Given the description of an element on the screen output the (x, y) to click on. 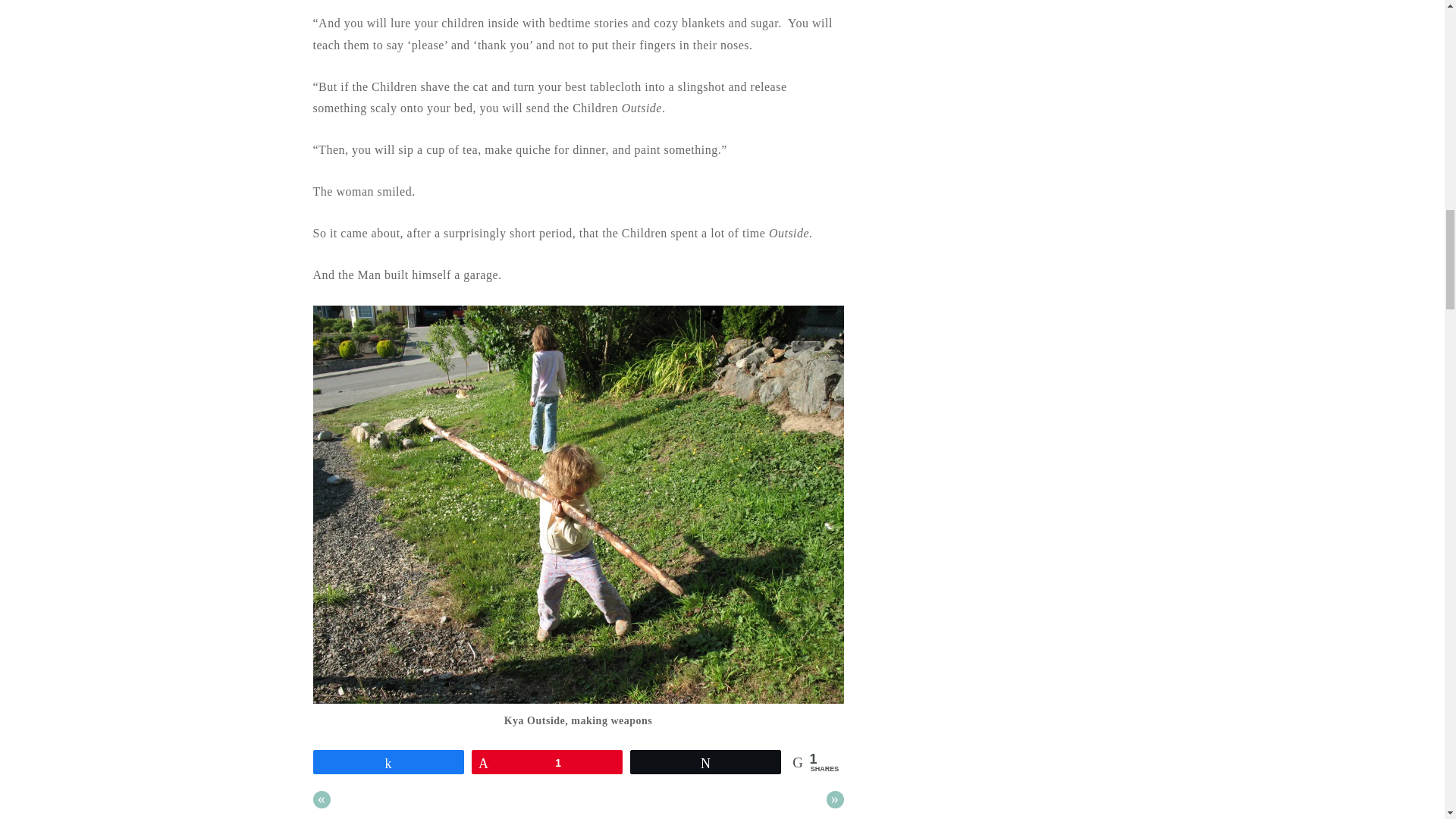
1 (546, 762)
Previous Post: Sorrow and the Beautiful Love (321, 799)
Next Post: My Latest and Greatest Giveaway (835, 799)
